Given the description of an element on the screen output the (x, y) to click on. 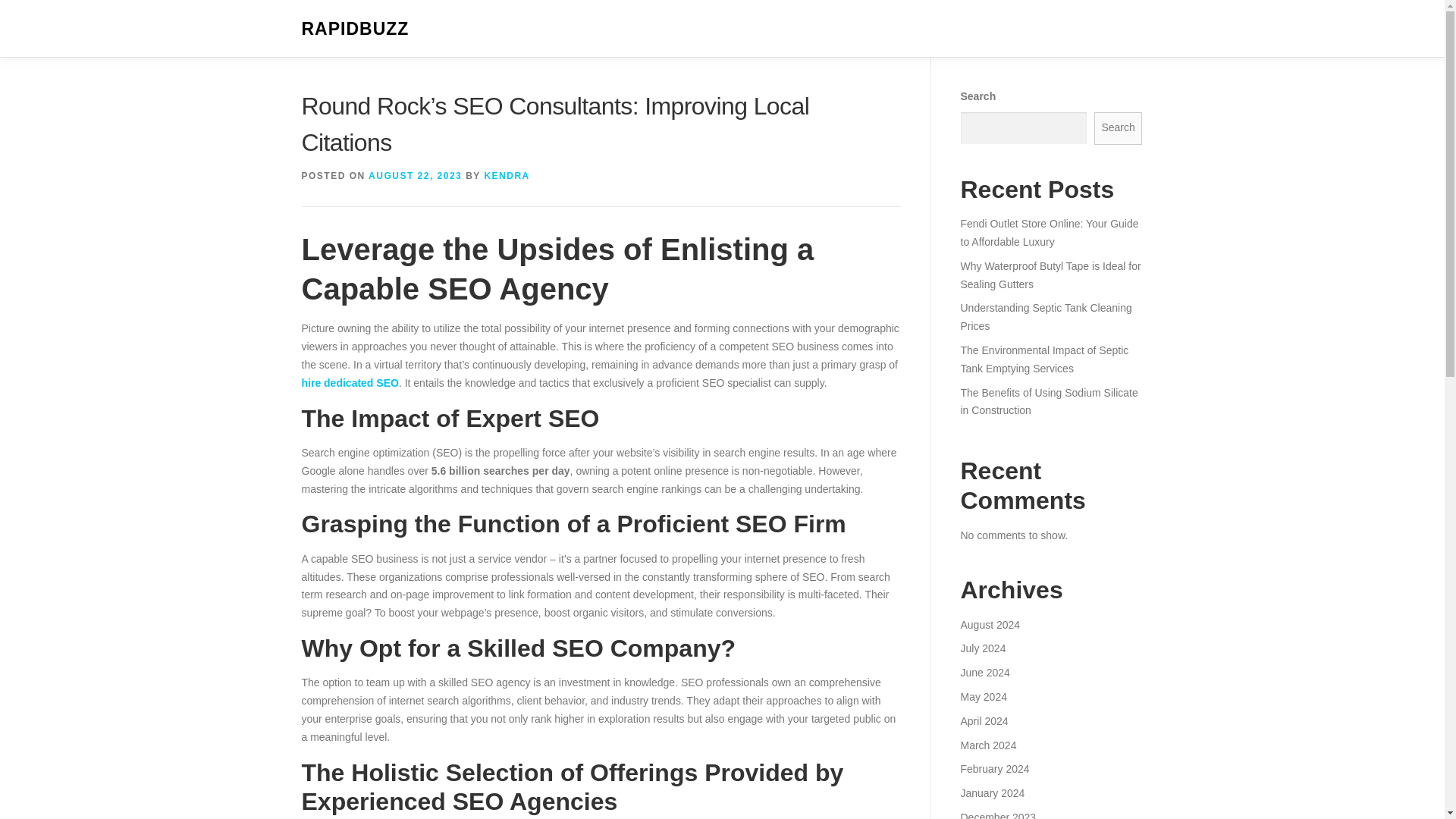
Why Waterproof Butyl Tape is Ideal for Sealing Gutters (1049, 275)
The Environmental Impact of Septic Tank Emptying Services (1043, 358)
December 2023 (997, 815)
Fendi Outlet Store Online: Your Guide to Affordable Luxury (1048, 232)
February 2024 (994, 768)
June 2024 (984, 672)
May 2024 (982, 696)
January 2024 (992, 793)
KENDRA (506, 175)
RAPIDBUZZ (355, 29)
